Given the description of an element on the screen output the (x, y) to click on. 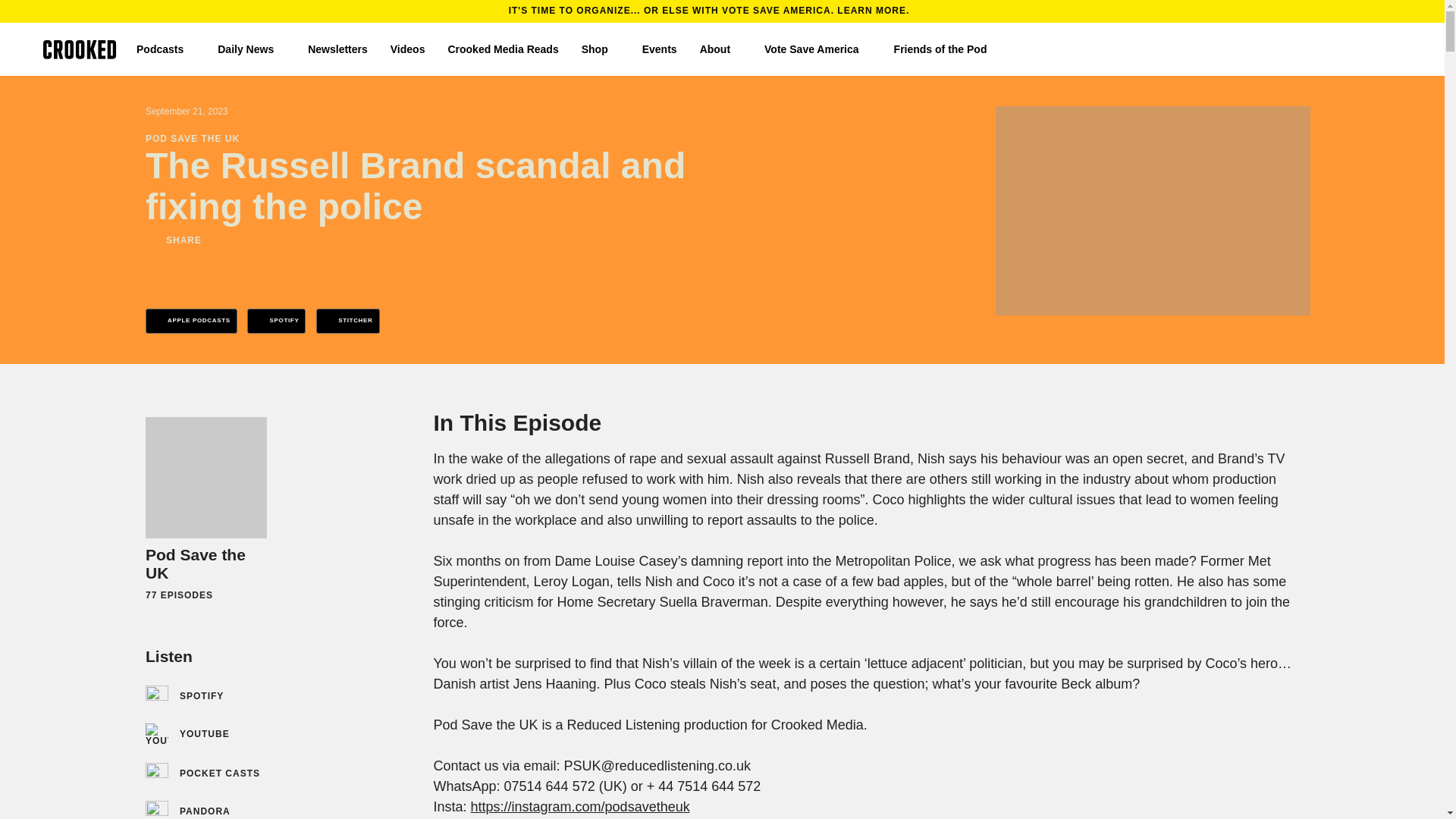
Shop (600, 48)
Newsletters (337, 48)
Events (659, 48)
Crooked Media Reads (501, 48)
Videos (407, 48)
Vote Save America (817, 48)
About (720, 48)
Podcasts (165, 48)
Daily News (250, 48)
